Given the description of an element on the screen output the (x, y) to click on. 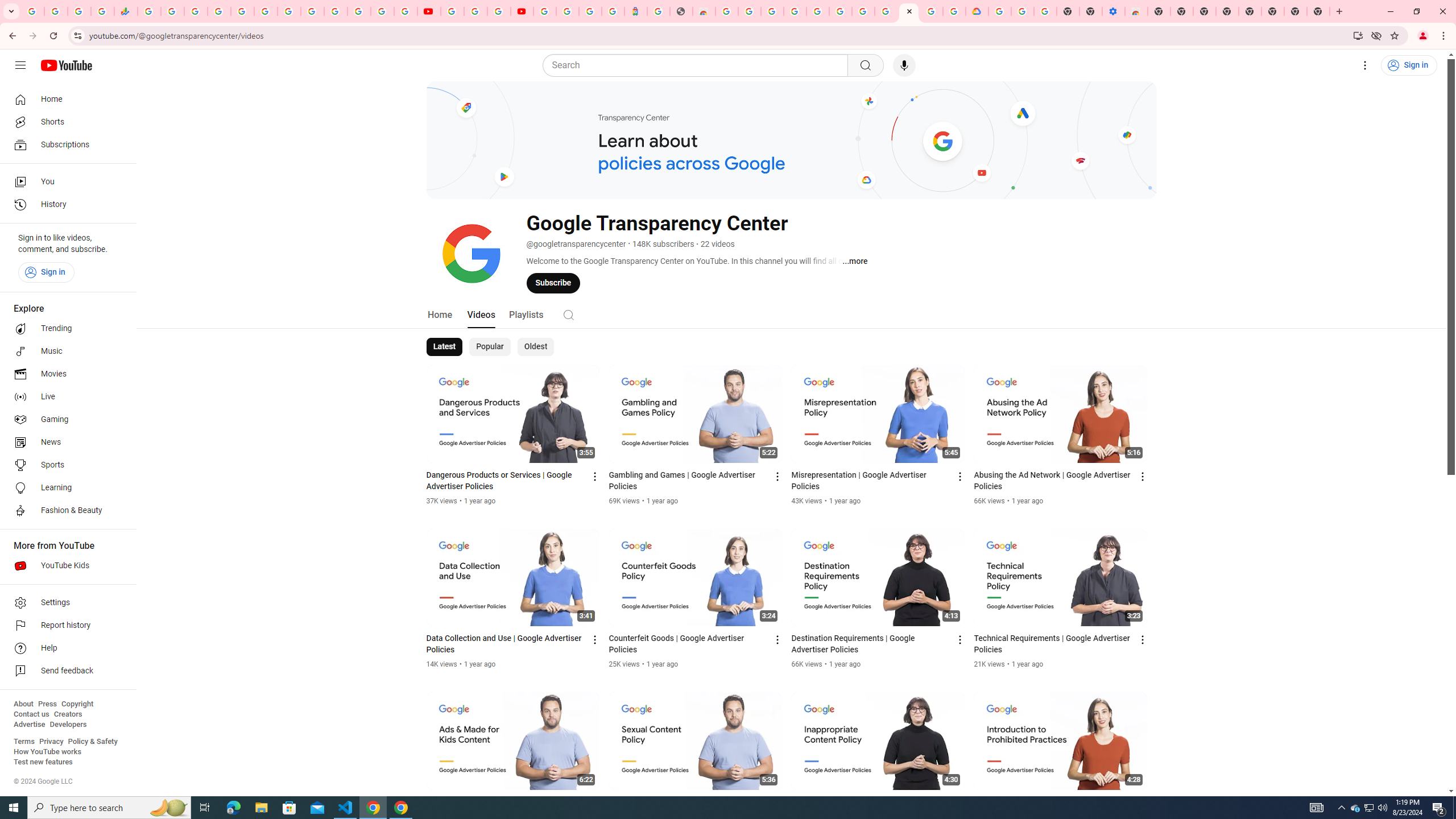
Search with your voice (903, 65)
Sports (64, 464)
Movies (64, 373)
Copyright (77, 703)
Guide (20, 65)
How YouTube works (47, 751)
Chrome Web Store - Accessibility extensions (1136, 11)
Privacy (51, 741)
Music (64, 350)
Sign in - Google Accounts (381, 11)
